Given the description of an element on the screen output the (x, y) to click on. 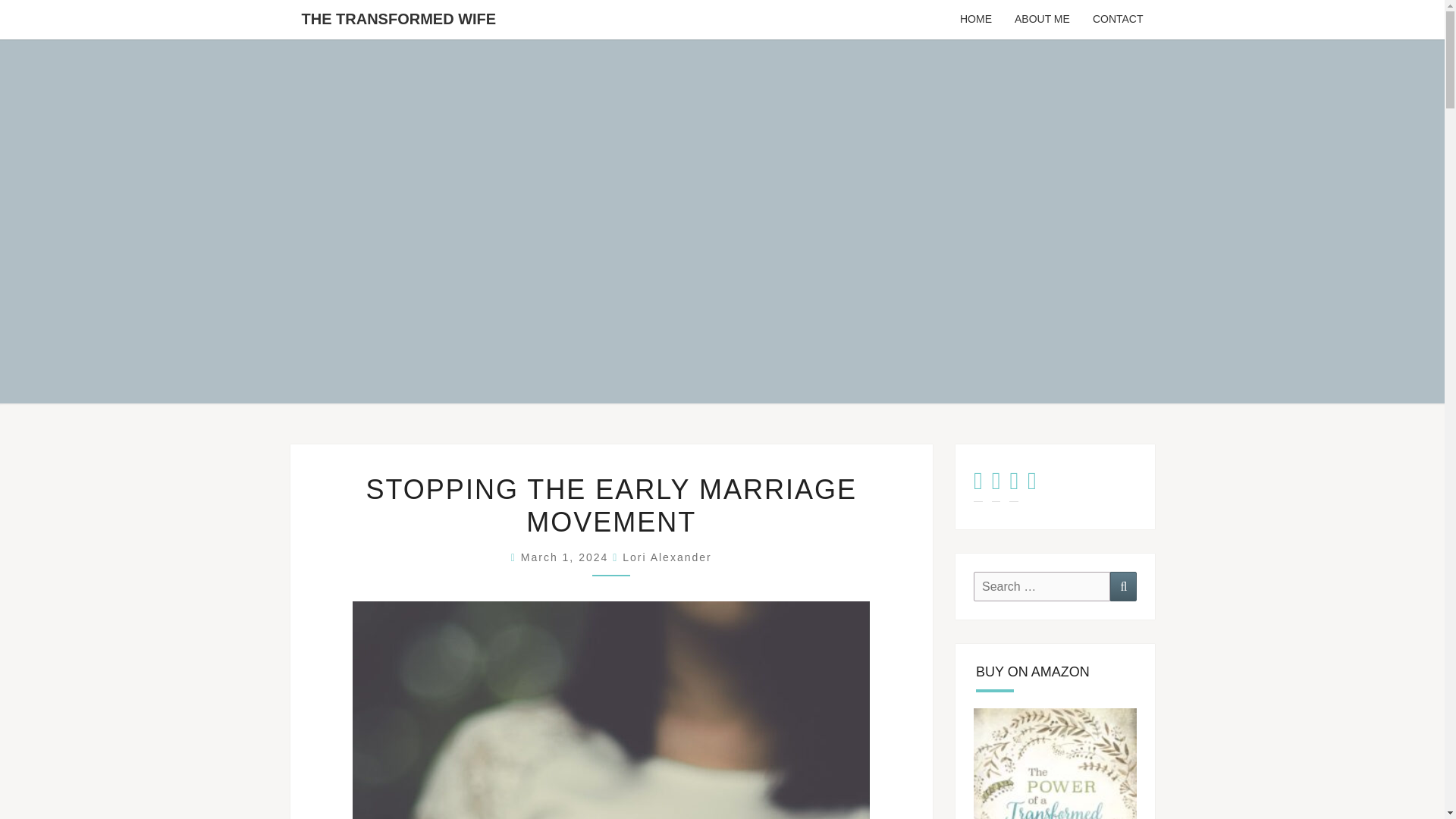
CONTACT (1117, 19)
Search for: (1041, 586)
HOME (976, 19)
THE TRANSFORMED WIFE (397, 18)
6:00 am (566, 557)
ABOUT ME (1042, 19)
Lori Alexander (667, 557)
Search (1123, 586)
March 1, 2024 (566, 557)
Buy on Amazon (1055, 763)
View all posts by Lori Alexander (667, 557)
